Given the description of an element on the screen output the (x, y) to click on. 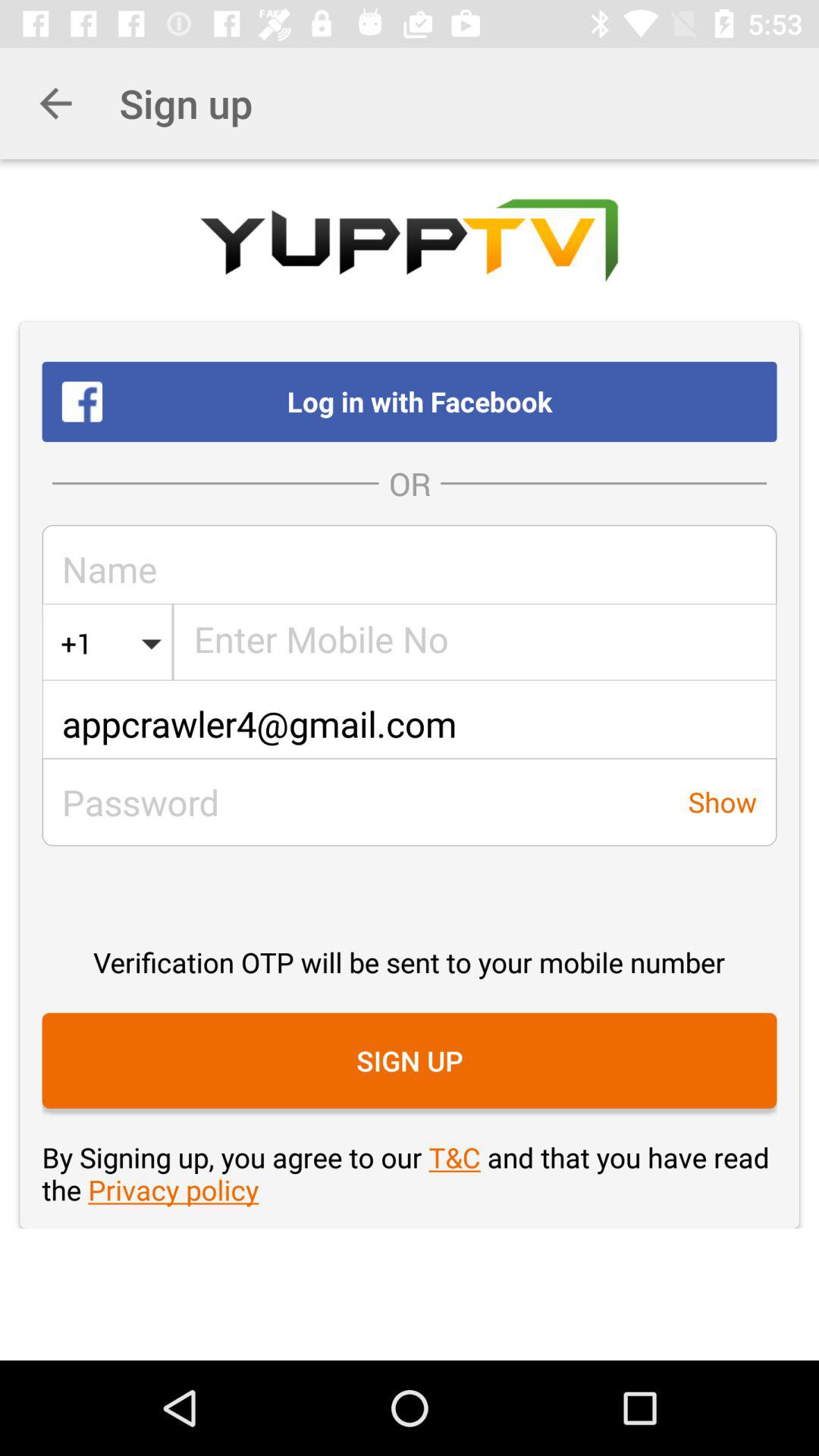
password (355, 802)
